Given the description of an element on the screen output the (x, y) to click on. 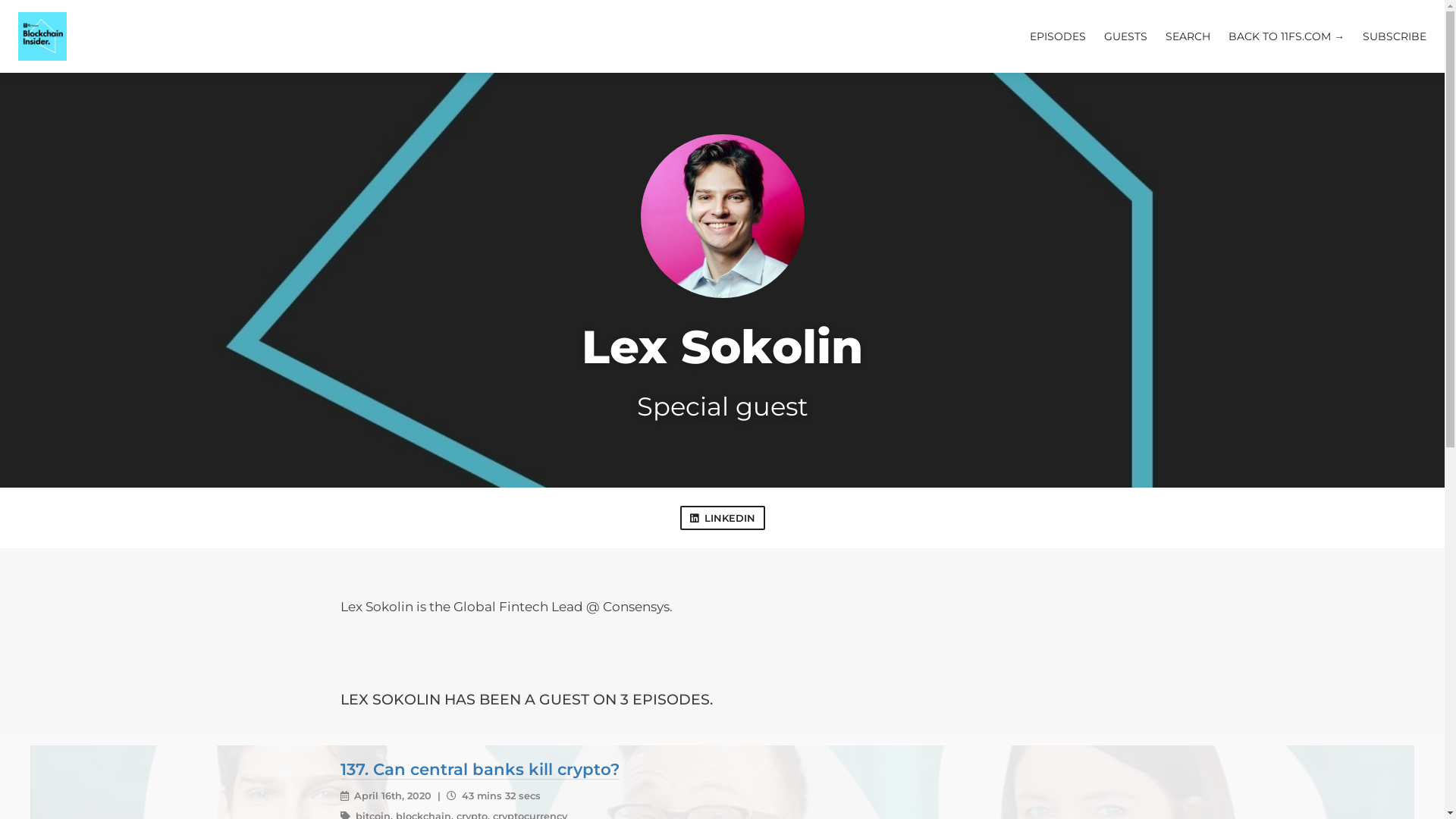
SUBSCRIBE Element type: text (1394, 36)
LINKEDIN Element type: text (721, 517)
GUESTS Element type: text (1125, 36)
EPISODES Element type: text (1057, 36)
SEARCH Element type: text (1187, 36)
137. Can central banks kill crypto? Element type: text (478, 768)
